Given the description of an element on the screen output the (x, y) to click on. 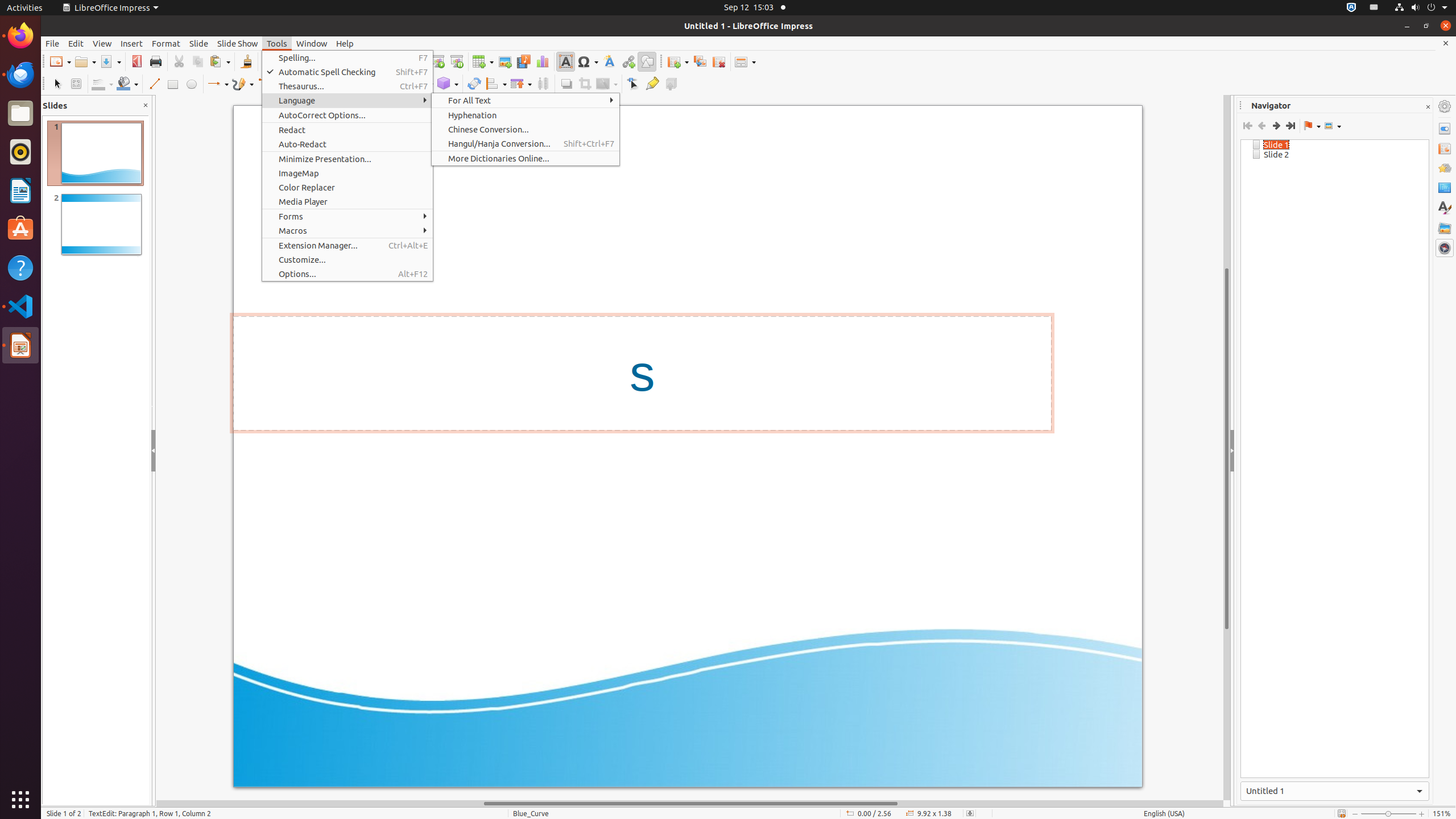
Auto-Redact Element type: menu-item (347, 144)
More Dictionaries Online... Element type: menu-item (525, 158)
Rectangle Element type: push-button (172, 83)
Last Slide Element type: push-button (1290, 125)
Properties Element type: radio-button (1444, 128)
